Given the description of an element on the screen output the (x, y) to click on. 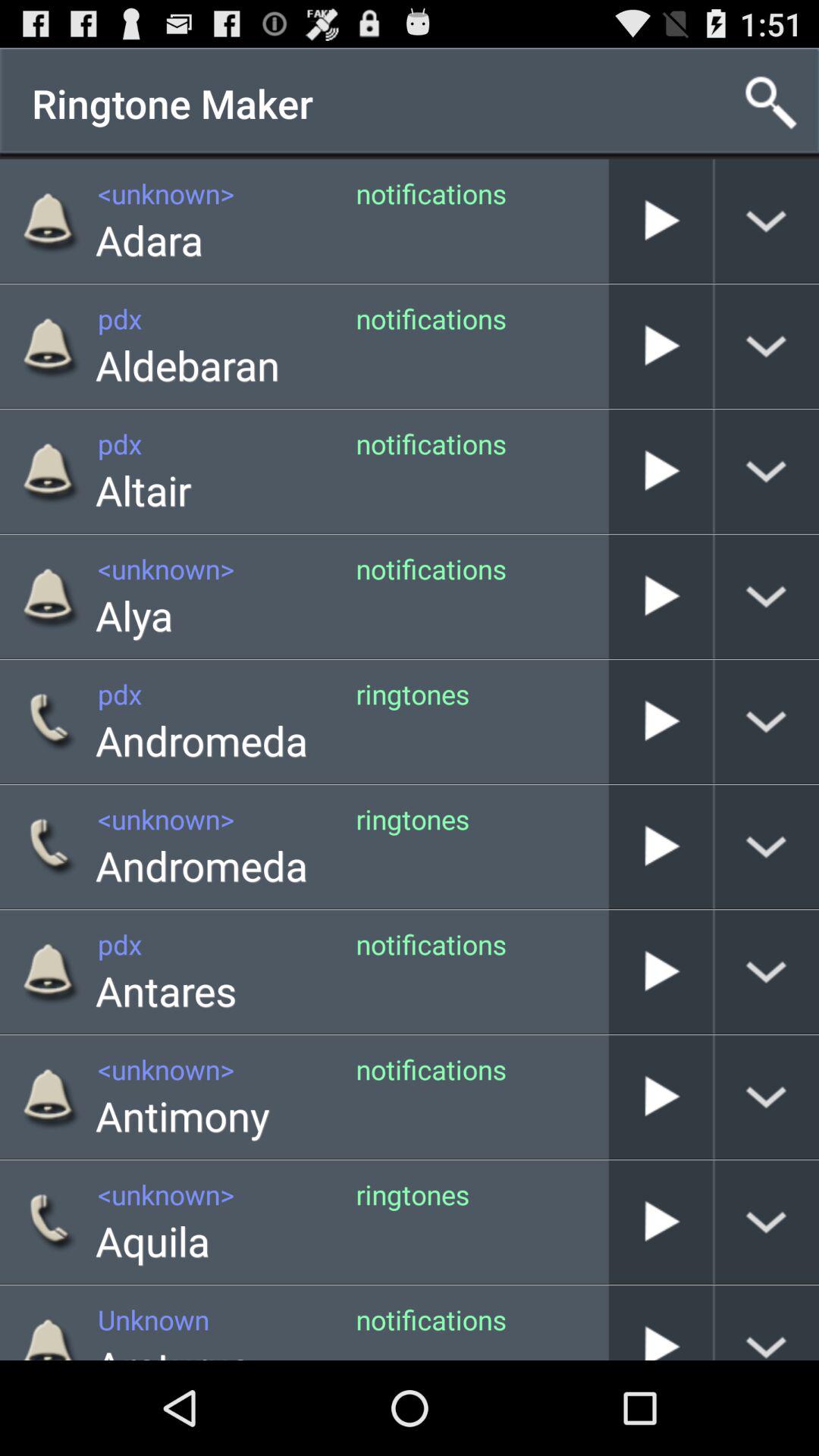
launch item to the left of notifications (182, 1115)
